Given the description of an element on the screen output the (x, y) to click on. 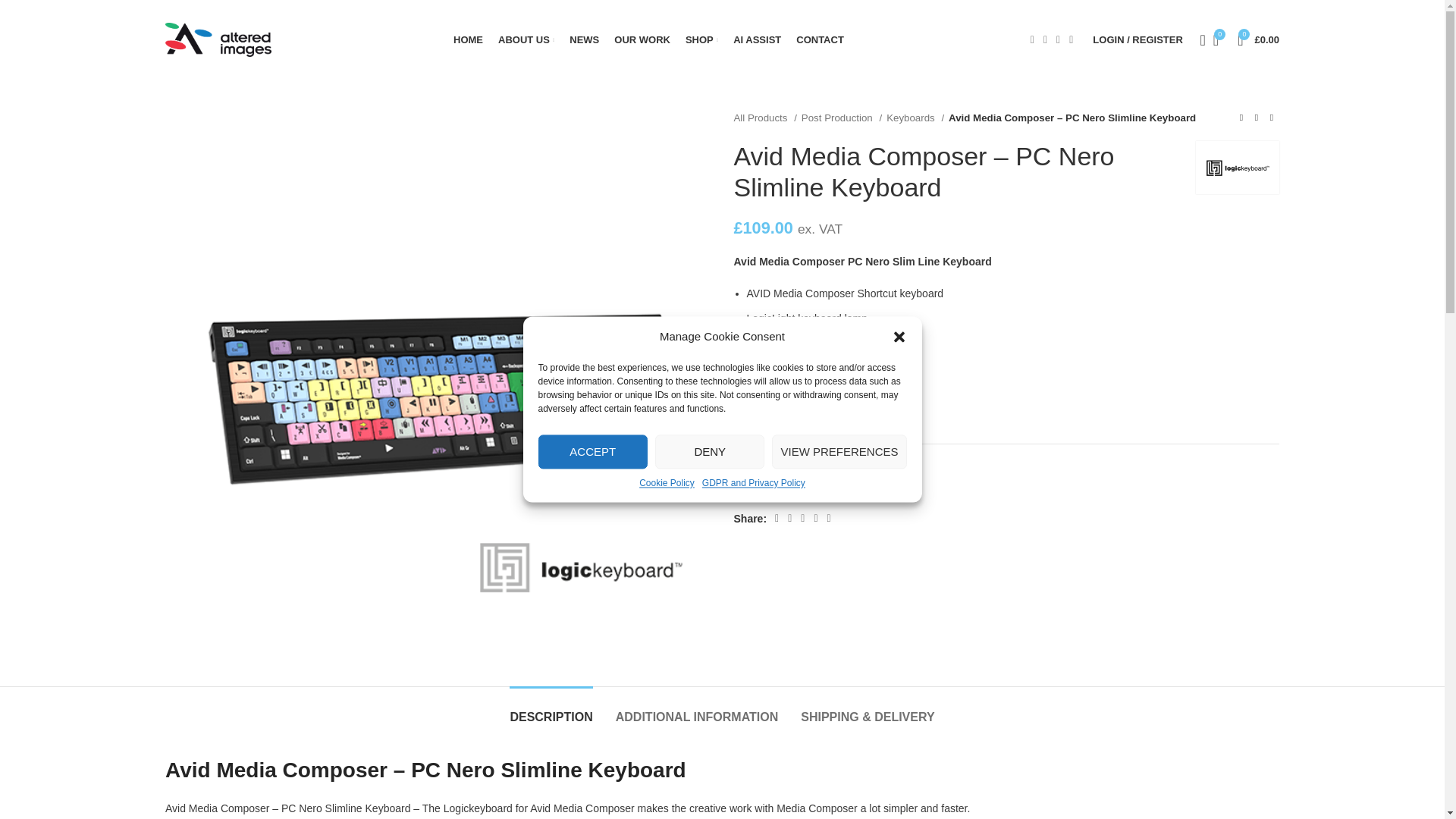
Subscribe (1061, 678)
DENY (709, 451)
VIEW PREFERENCES (838, 451)
OUR WORK (641, 39)
HOME (467, 39)
SHOP (701, 39)
Shopping cart (1258, 39)
Cookie Policy (666, 482)
My account (1136, 39)
1 (1022, 619)
GDPR and Privacy Policy (753, 482)
Logickeyboard (1237, 167)
ABOUT US (525, 39)
ACCEPT (592, 451)
NEWS (583, 39)
